Given the description of an element on the screen output the (x, y) to click on. 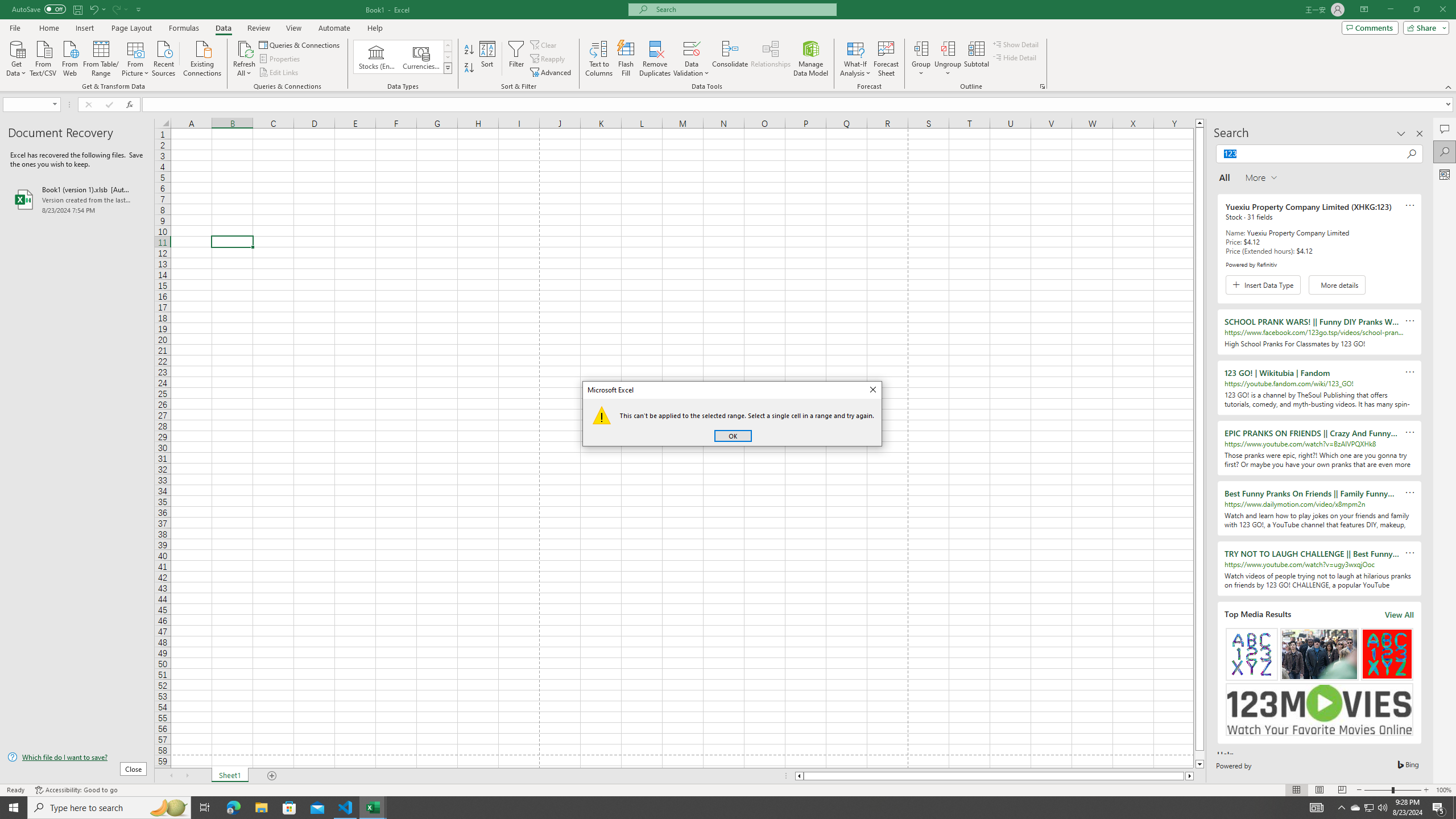
Advanced... (551, 72)
Book1 (version 1).xlsb  [AutoRecovered] (77, 199)
Subtotal (976, 58)
Forecast Sheet (885, 58)
AutoSave (38, 9)
Class: Static (601, 415)
Microsoft Store (289, 807)
